Given the description of an element on the screen output the (x, y) to click on. 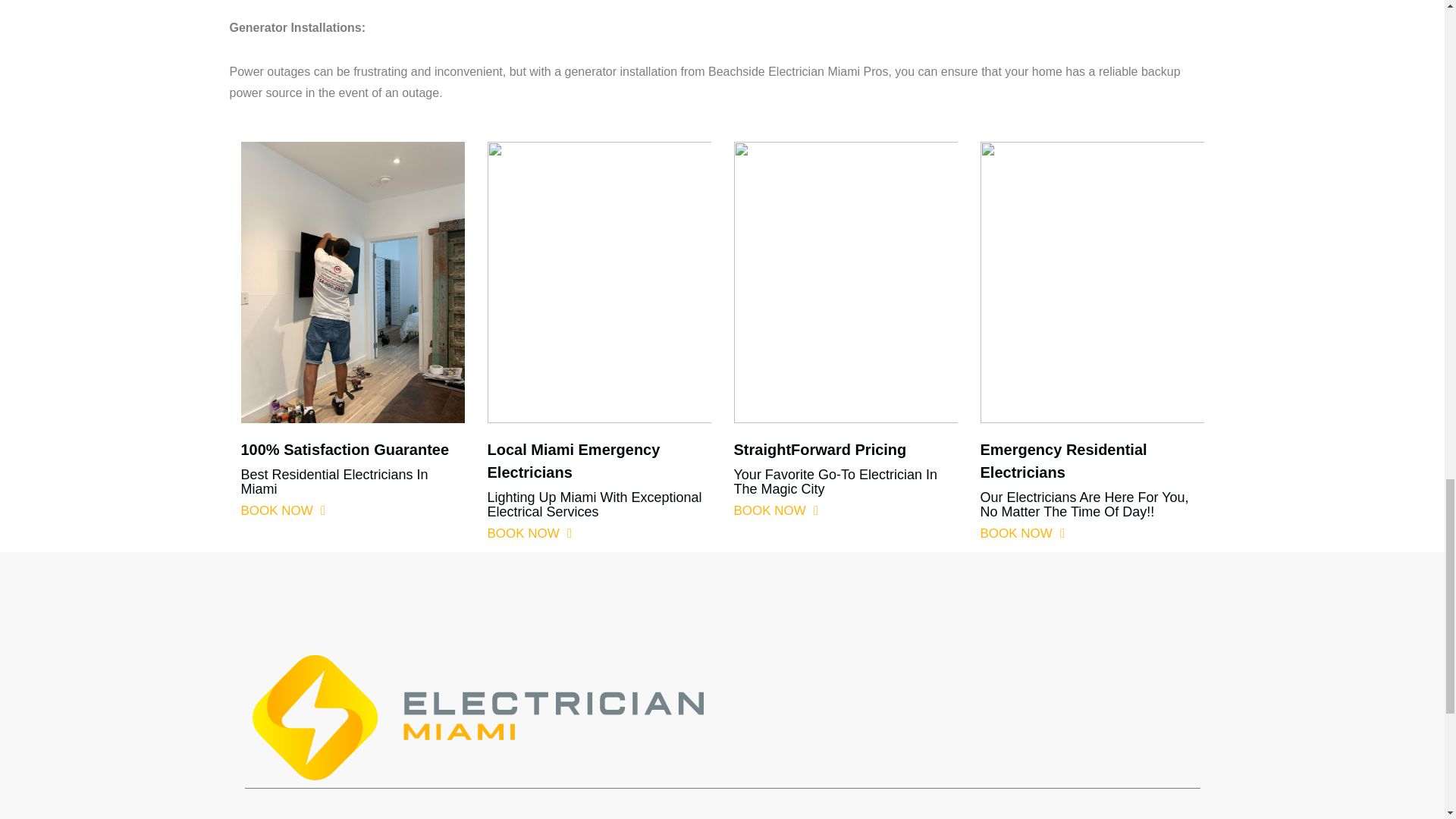
BOOK NOW (283, 510)
BOOK NOW (529, 533)
BOOK NOW (775, 510)
BOOK NOW (1021, 533)
